Given the description of an element on the screen output the (x, y) to click on. 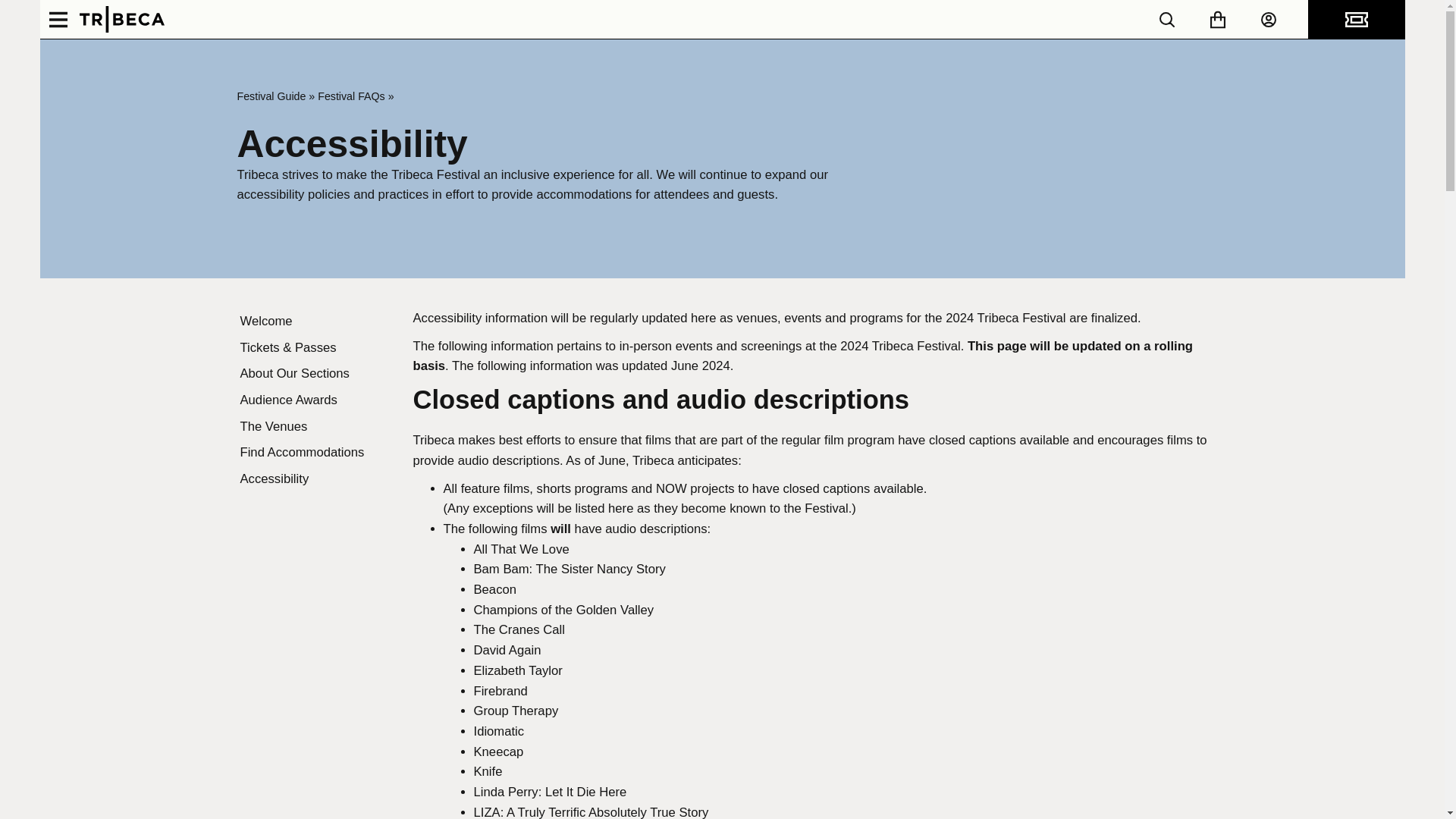
Welcome (314, 321)
The Venues (314, 427)
About Our Sections (314, 374)
Audience Awards (314, 400)
Festival FAQs (351, 96)
Accessibility (314, 479)
Festival Guide (270, 96)
Find Accommodations (314, 452)
